Given the description of an element on the screen output the (x, y) to click on. 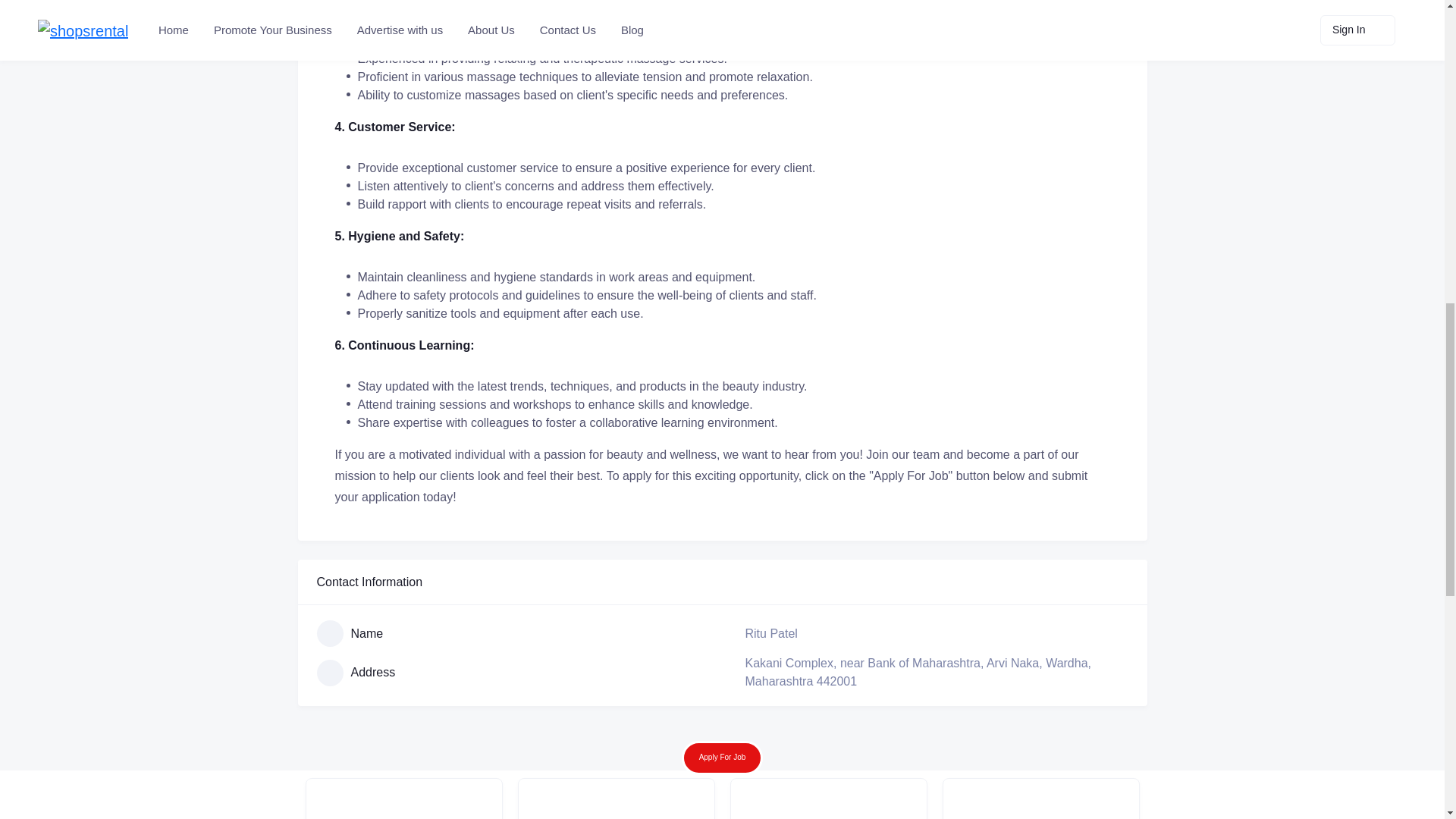
Home Tutor (827, 798)
Security Guard (1040, 798)
Beautician (403, 798)
Telecaller (615, 798)
